Given the description of an element on the screen output the (x, y) to click on. 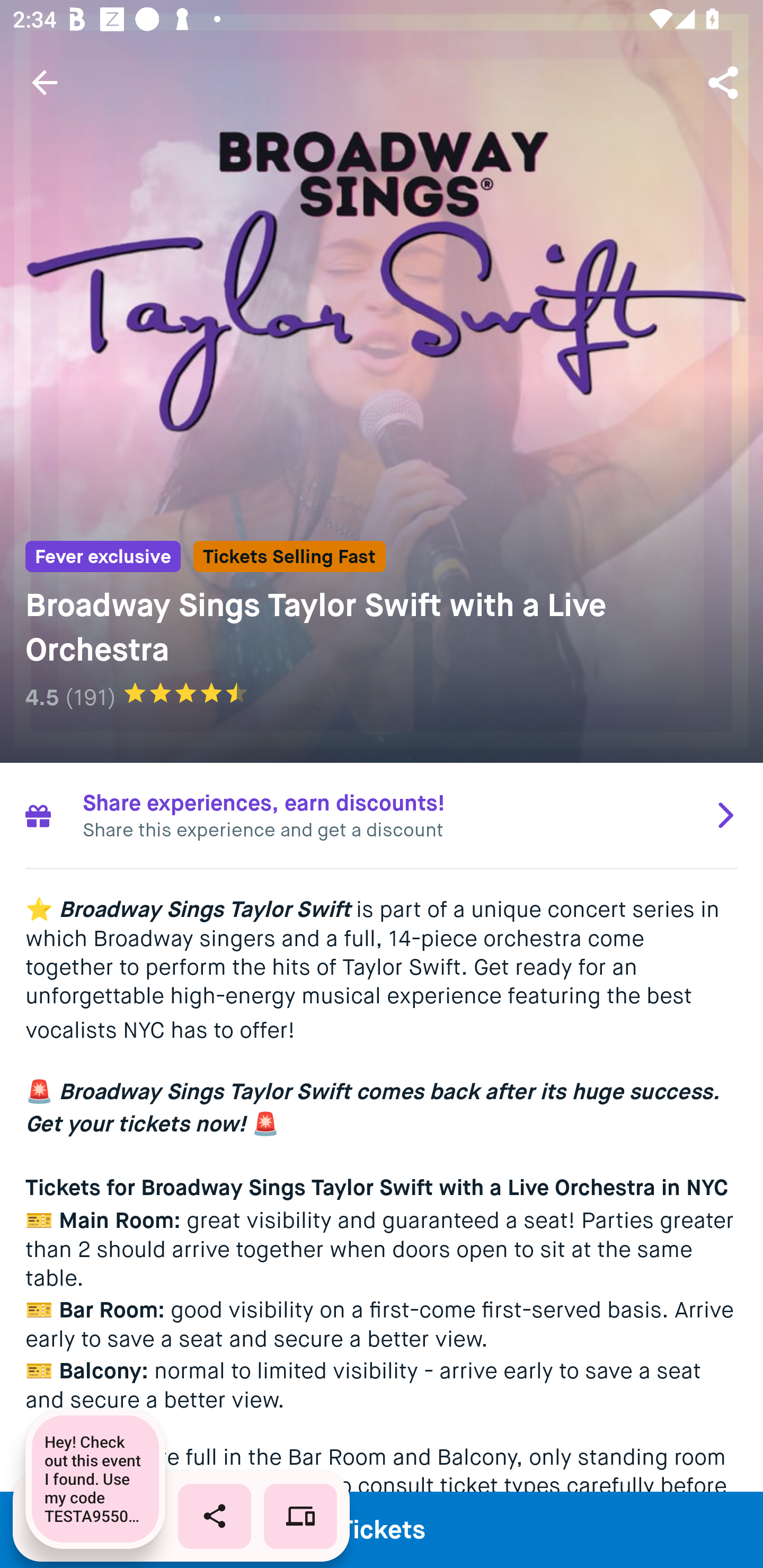
Navigate up (44, 82)
Share (724, 81)
(191) (89, 697)
